Given the description of an element on the screen output the (x, y) to click on. 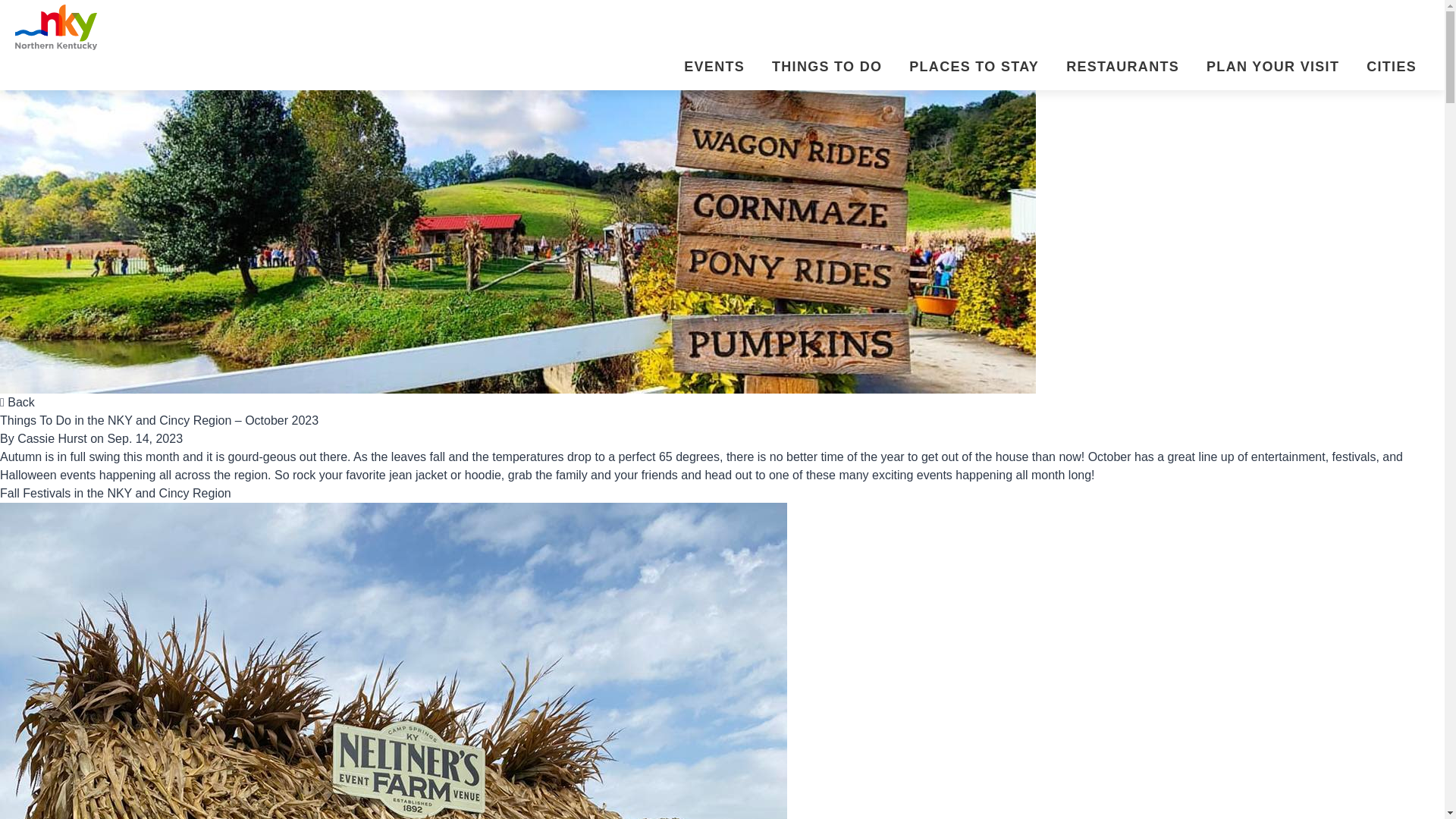
THINGS TO DO (823, 67)
RESTAURANTS (1119, 67)
EVENTS (710, 67)
CITIES (1387, 67)
PLAN YOUR VISIT (1269, 67)
PLACES TO STAY (970, 67)
